Given the description of an element on the screen output the (x, y) to click on. 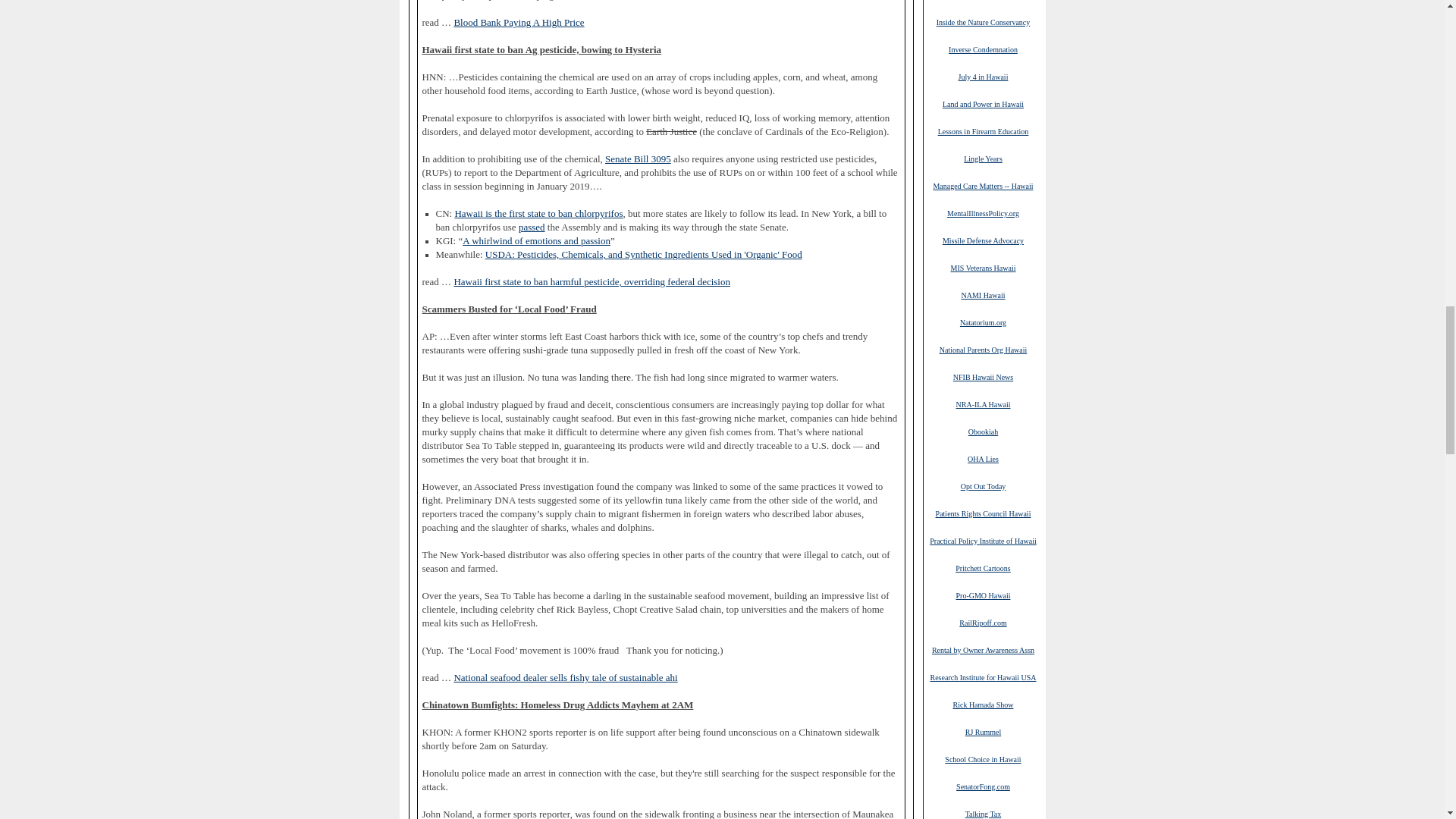
Senate Bill 3095 (638, 158)
A whirlwind of emotions and passion (536, 240)
Hawaii is the first state to ban chlorpyrifos (538, 213)
passed (531, 226)
National seafood dealer sells fishy tale of sustainable ahi (564, 677)
Blood Bank Paying A High Price (517, 22)
